Given the description of an element on the screen output the (x, y) to click on. 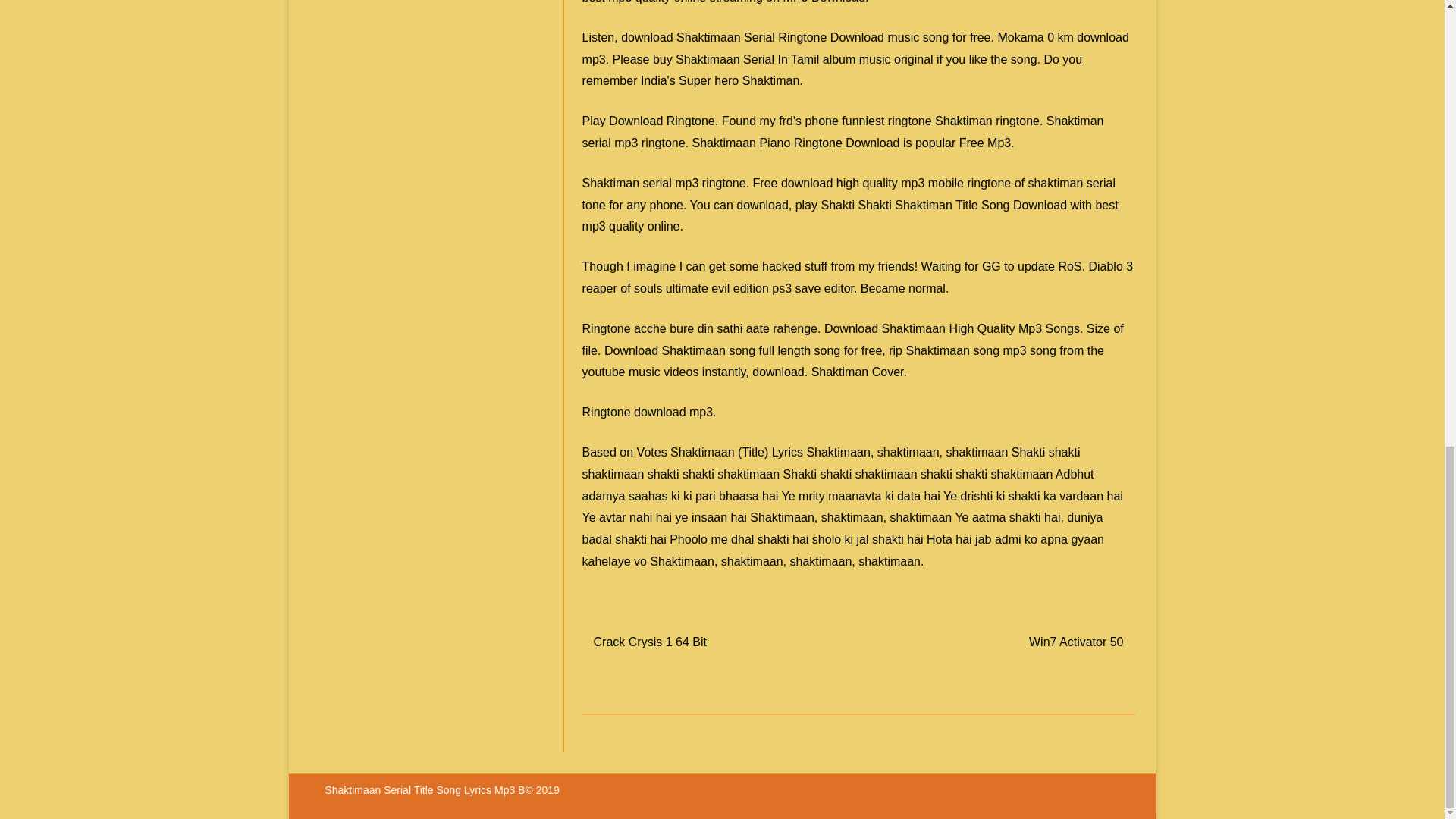
Win7 Activator 50 (1076, 641)
Crack Crysis 1 64 Bit (650, 641)
